Given the description of an element on the screen output the (x, y) to click on. 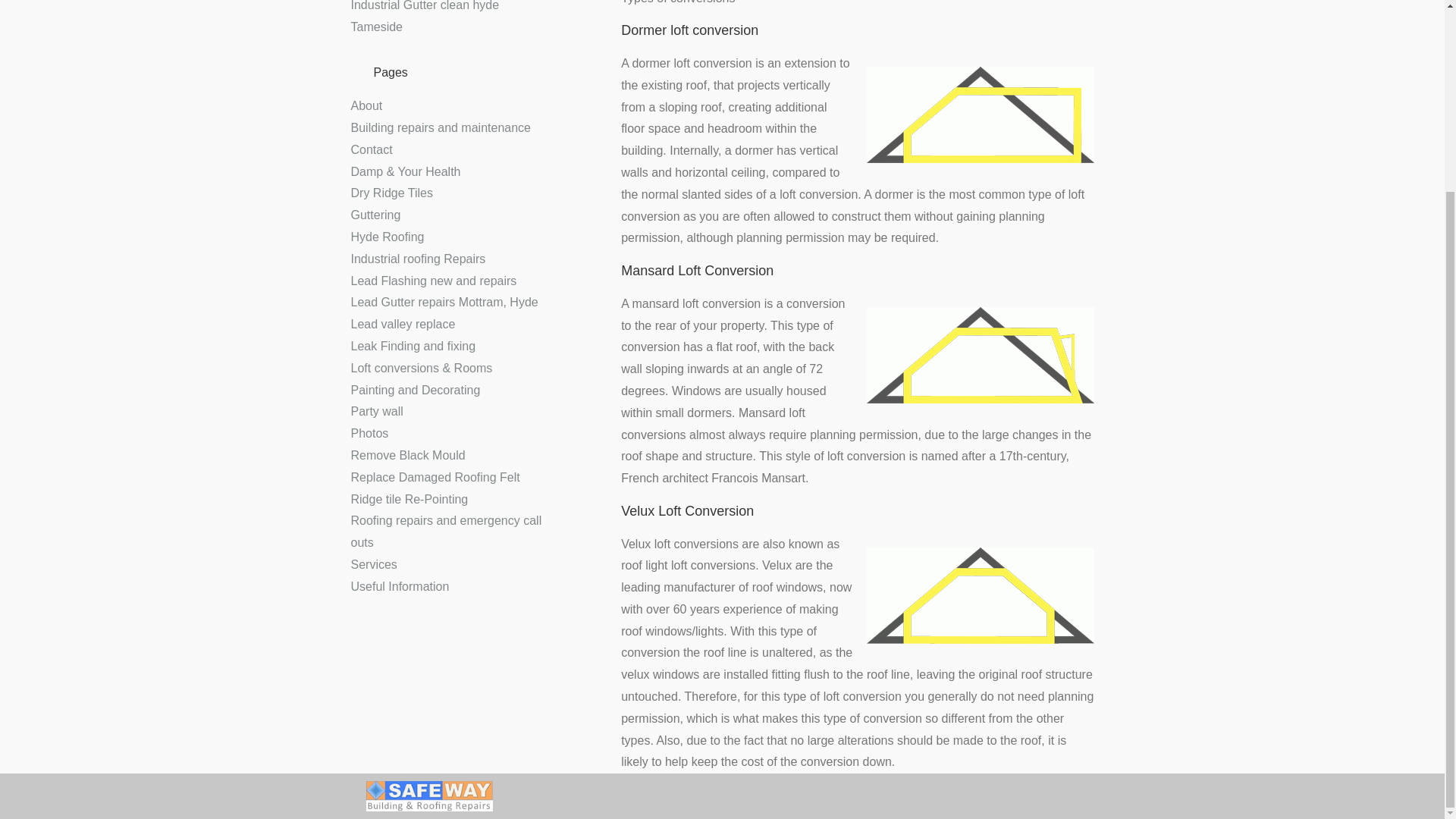
Lead Flashing new and repairs (433, 280)
Useful Information (399, 585)
Replace Damaged Roofing Felt (434, 477)
Leak Finding and fixing (413, 345)
About (365, 105)
Lead Gutter repairs Mottram, Hyde (443, 301)
Dry Ridge Tiles (391, 192)
Party wall (376, 410)
Contact (370, 149)
Services (373, 563)
